Given the description of an element on the screen output the (x, y) to click on. 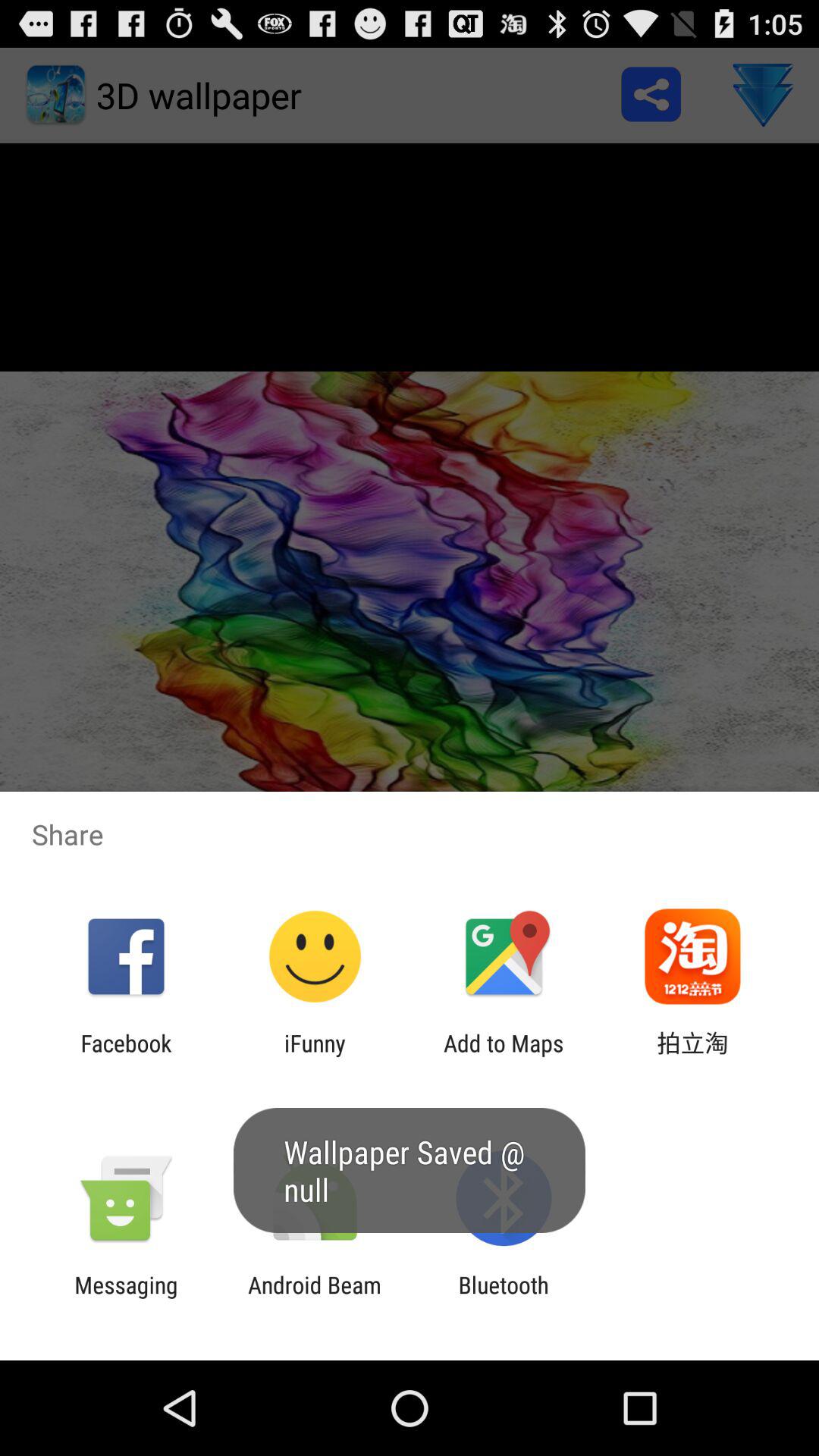
tap the app to the right of the add to maps item (692, 1056)
